Given the description of an element on the screen output the (x, y) to click on. 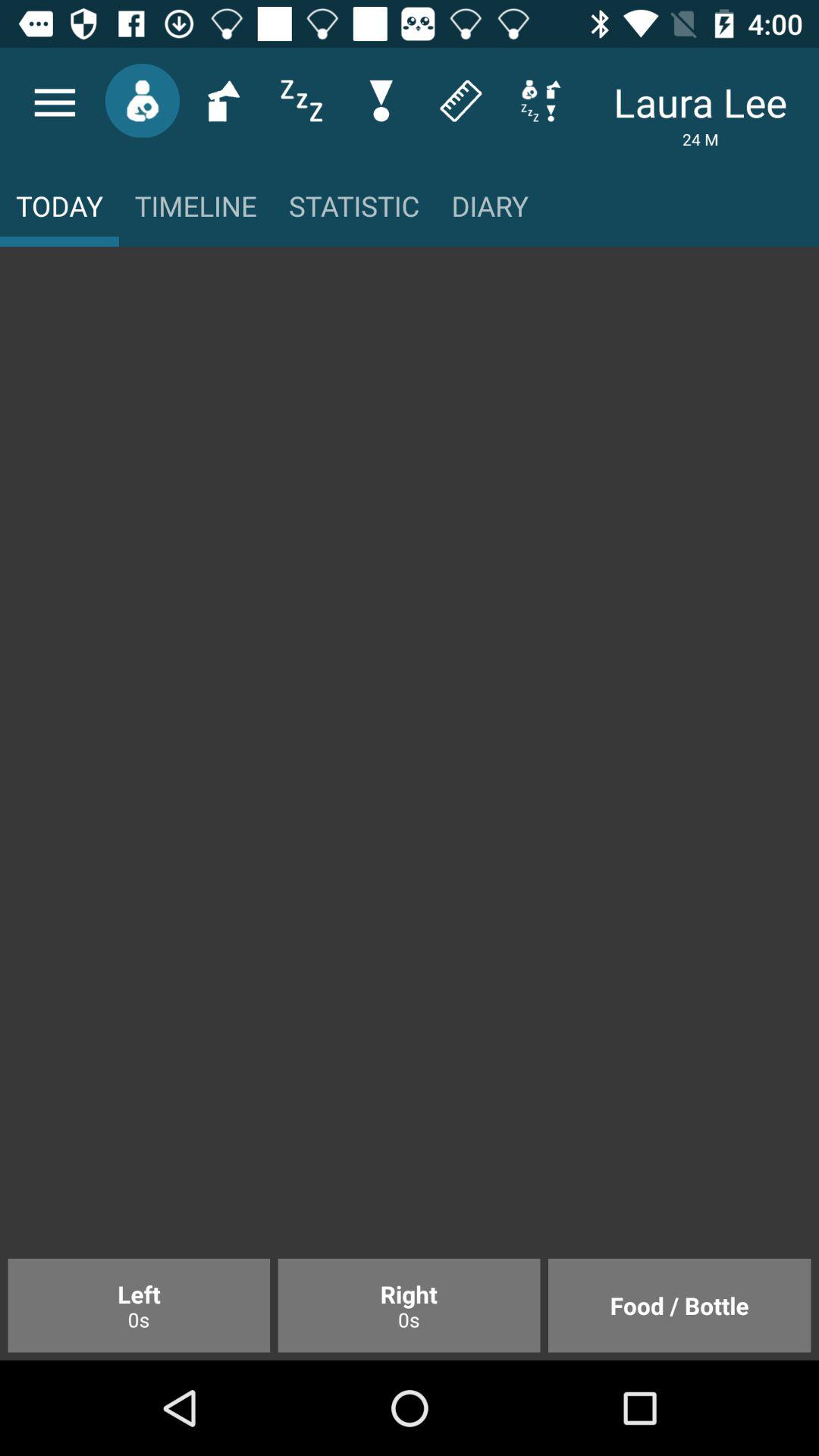
tap item above the left
0s item (409, 760)
